Given the description of an element on the screen output the (x, y) to click on. 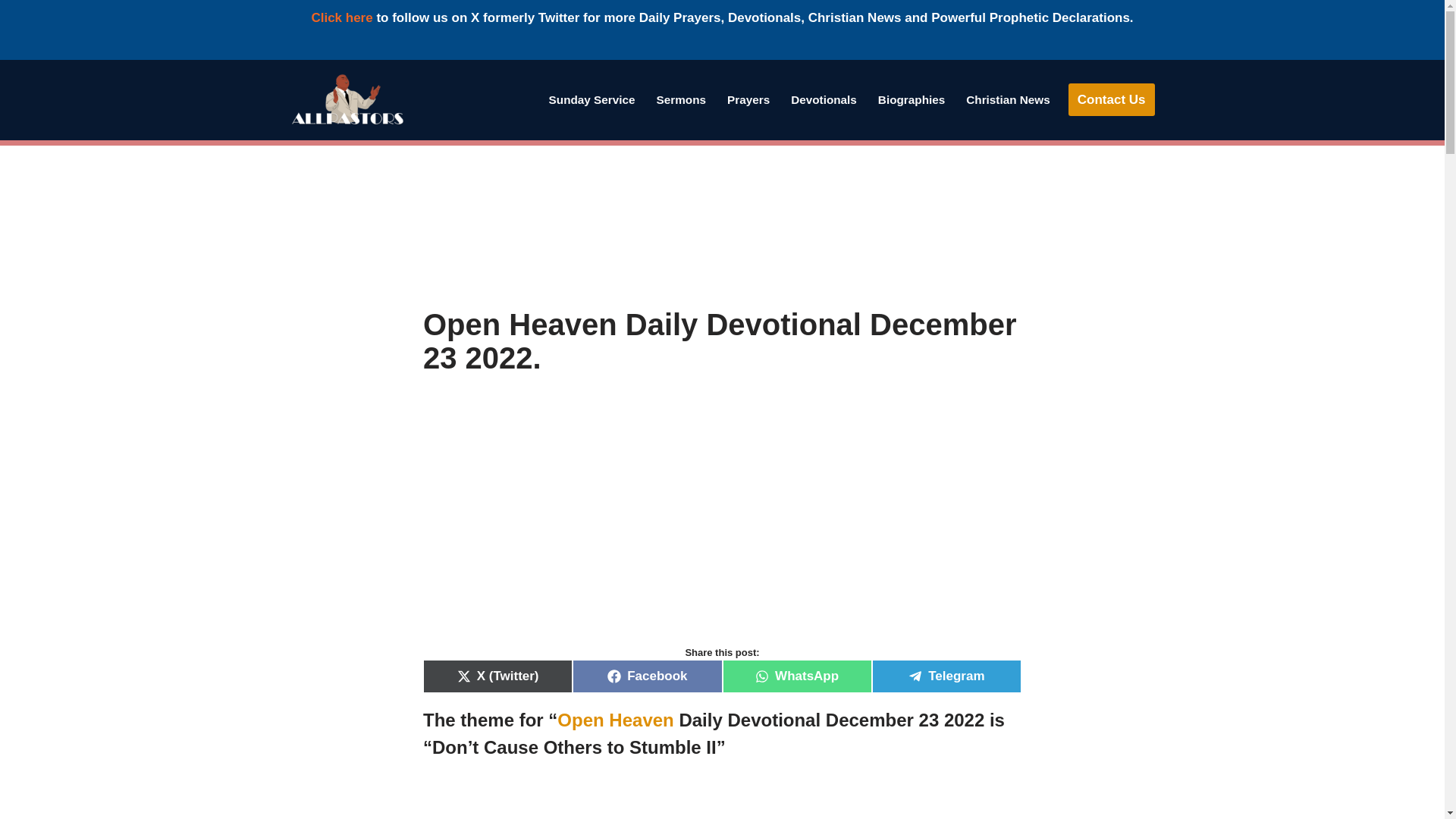
Click here (341, 17)
Contact Us (1111, 99)
Prayers (748, 99)
Christian News (1007, 99)
Telegram (947, 676)
Advertisement (722, 801)
Skip to content (11, 91)
Biographies (910, 99)
Devotionals (823, 99)
Advertisement (722, 226)
SERMONS ONLINE (681, 99)
Sunday Service (591, 99)
WhatsApp (796, 676)
Advertisement (722, 526)
Open Heaven (614, 720)
